Given the description of an element on the screen output the (x, y) to click on. 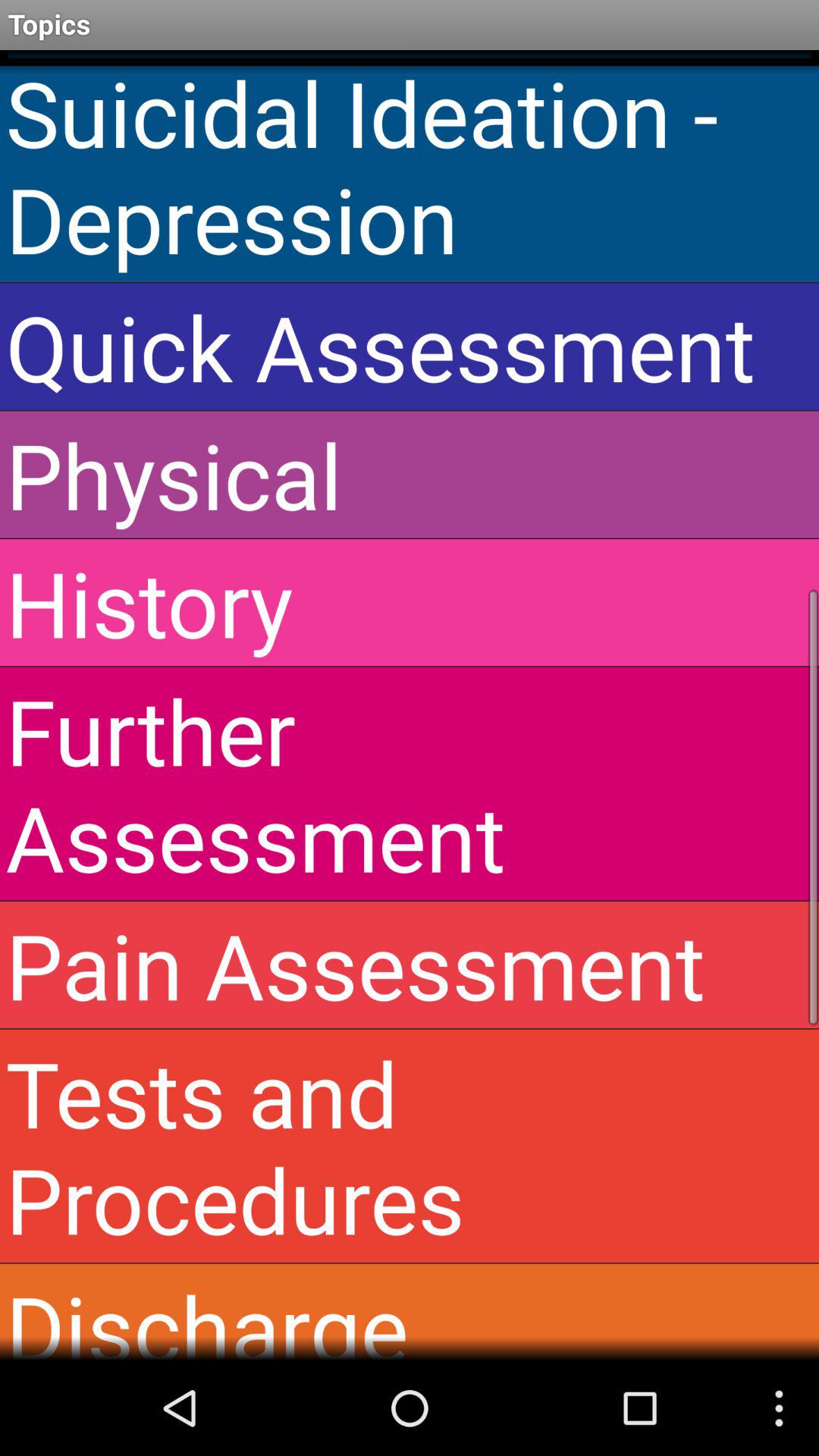
click quick assessment icon (409, 346)
